Given the description of an element on the screen output the (x, y) to click on. 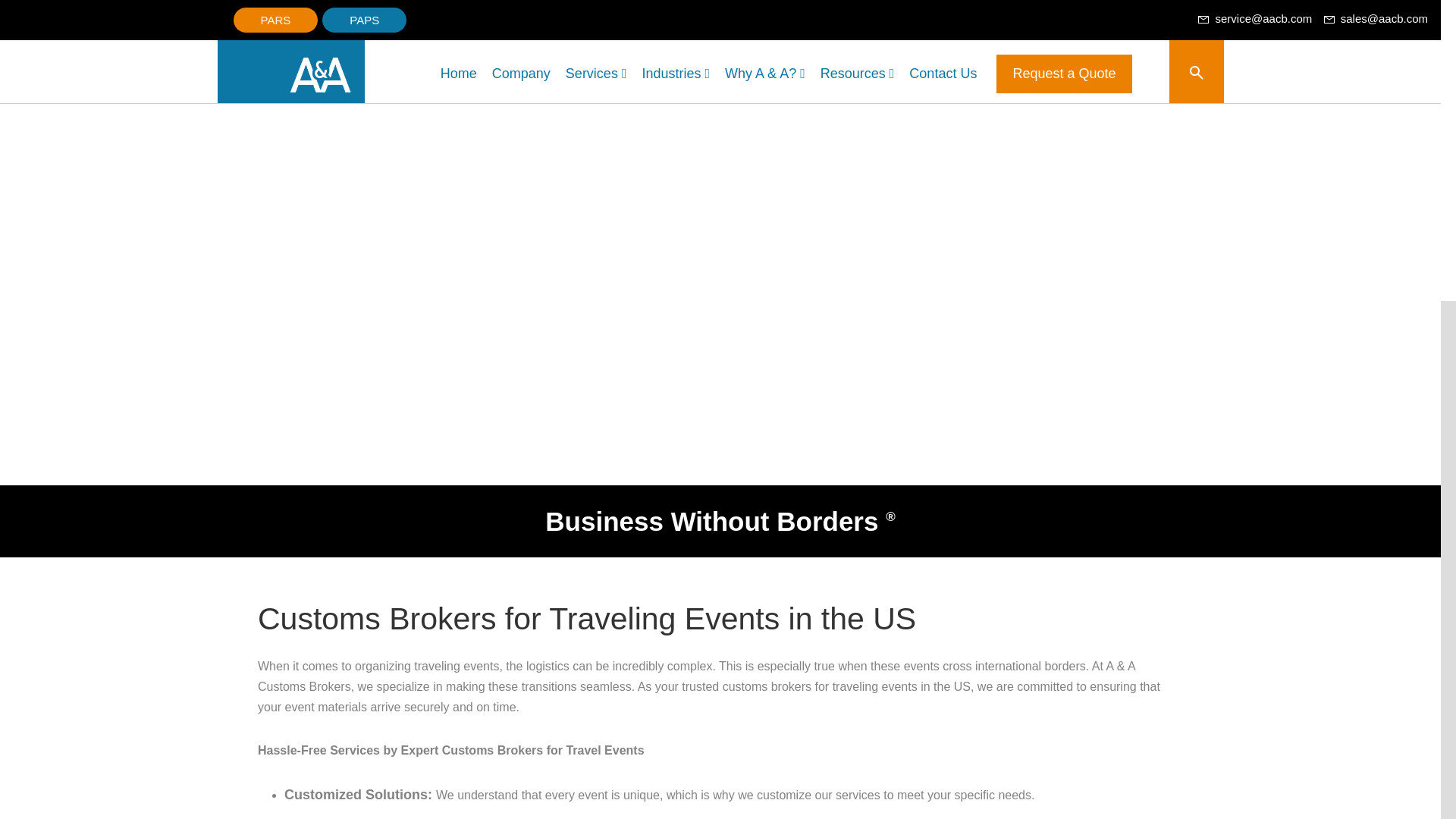
COMPANY (224, 33)
HOME (157, 33)
INDUSTRIES (401, 33)
SERVICES (307, 33)
